Given the description of an element on the screen output the (x, y) to click on. 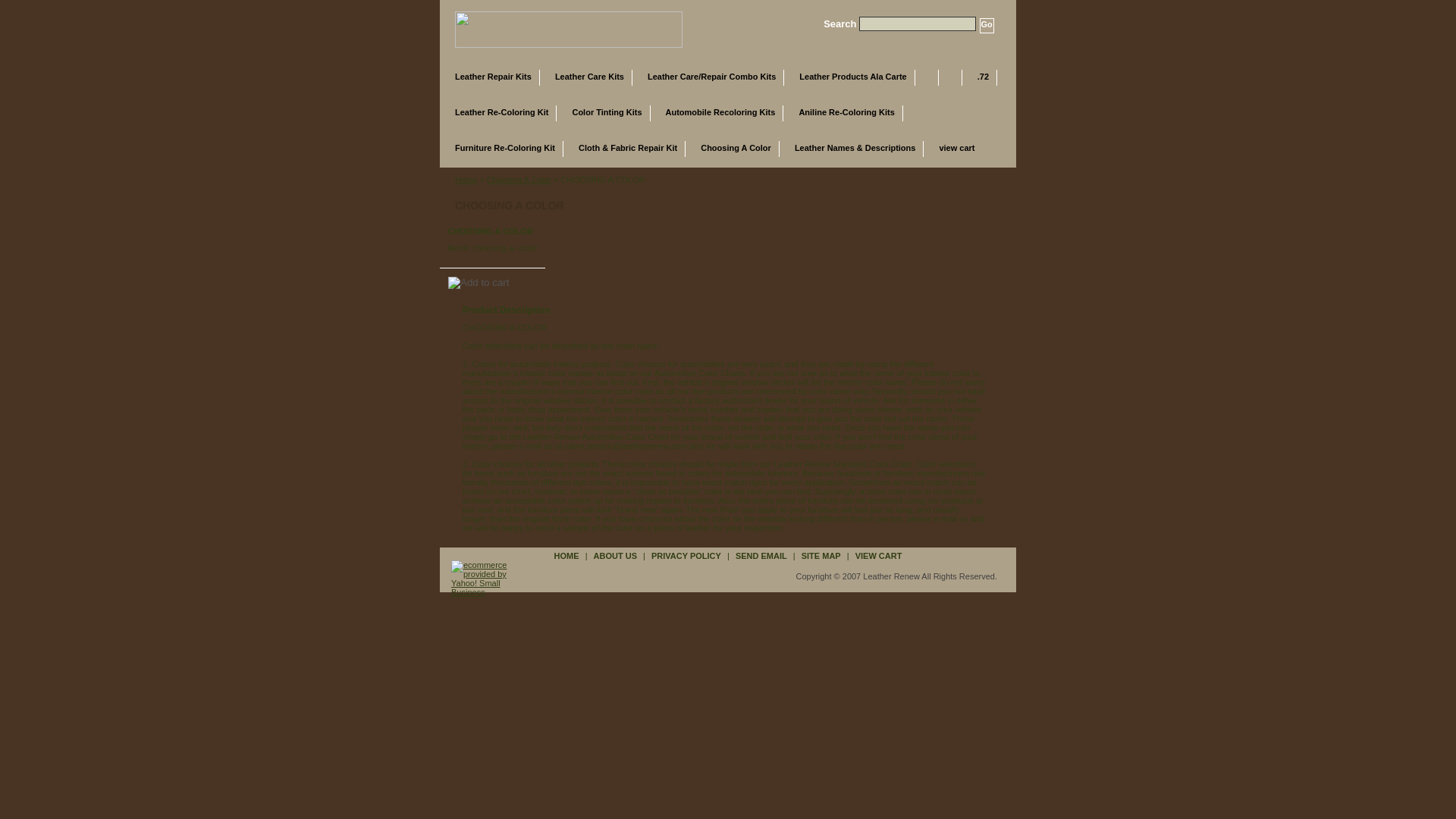
PRIVACY POLICY (686, 555)
Leather Care Kits (589, 77)
Choosing A Color (735, 148)
Home (465, 179)
Leather Repair Kits (493, 77)
Furniture Re-Coloring Kit (504, 148)
Color Tinting Kits (606, 113)
view cart (964, 148)
.72 (983, 77)
ABOUT US (614, 555)
Automobile Recoloring Kits (721, 113)
Leather Products Ala Carte (853, 77)
Go (986, 25)
.72 (983, 77)
Choosing A Color (735, 148)
